Given the description of an element on the screen output the (x, y) to click on. 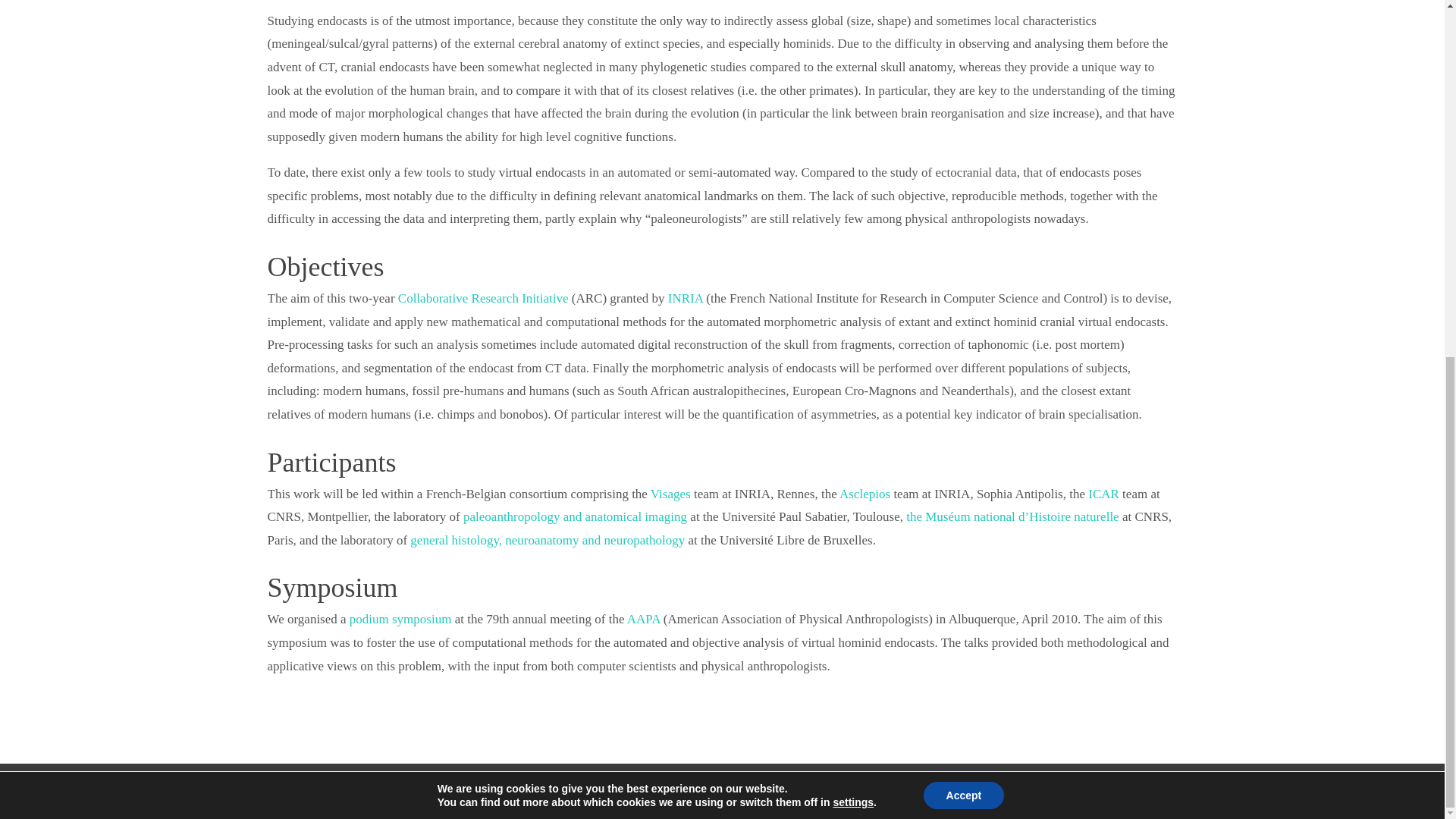
Asclepios (864, 493)
AAPA (644, 618)
podium symposium (400, 618)
Accept (963, 166)
WordPress. (769, 803)
Collaborative Research Initiative (483, 298)
settings (852, 173)
general histology, neuroanatomy and neuropathology (547, 540)
ICAR (1103, 493)
paleoanthropology and anatomical imaging (575, 516)
INRIA (685, 298)
Nirvana (718, 803)
Visages (670, 493)
